Given the description of an element on the screen output the (x, y) to click on. 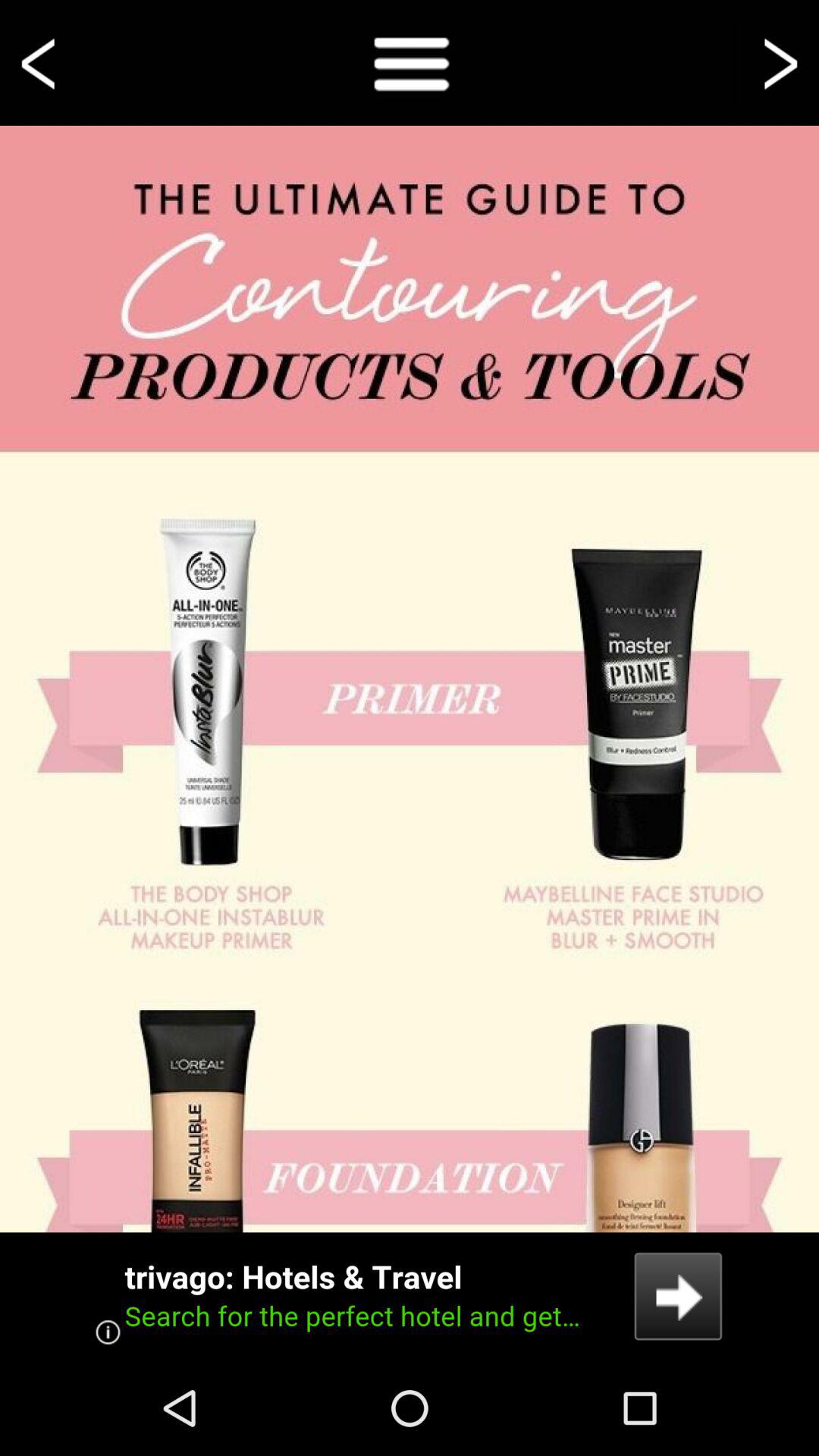
turn on icon at the bottom (409, 1296)
